Given the description of an element on the screen output the (x, y) to click on. 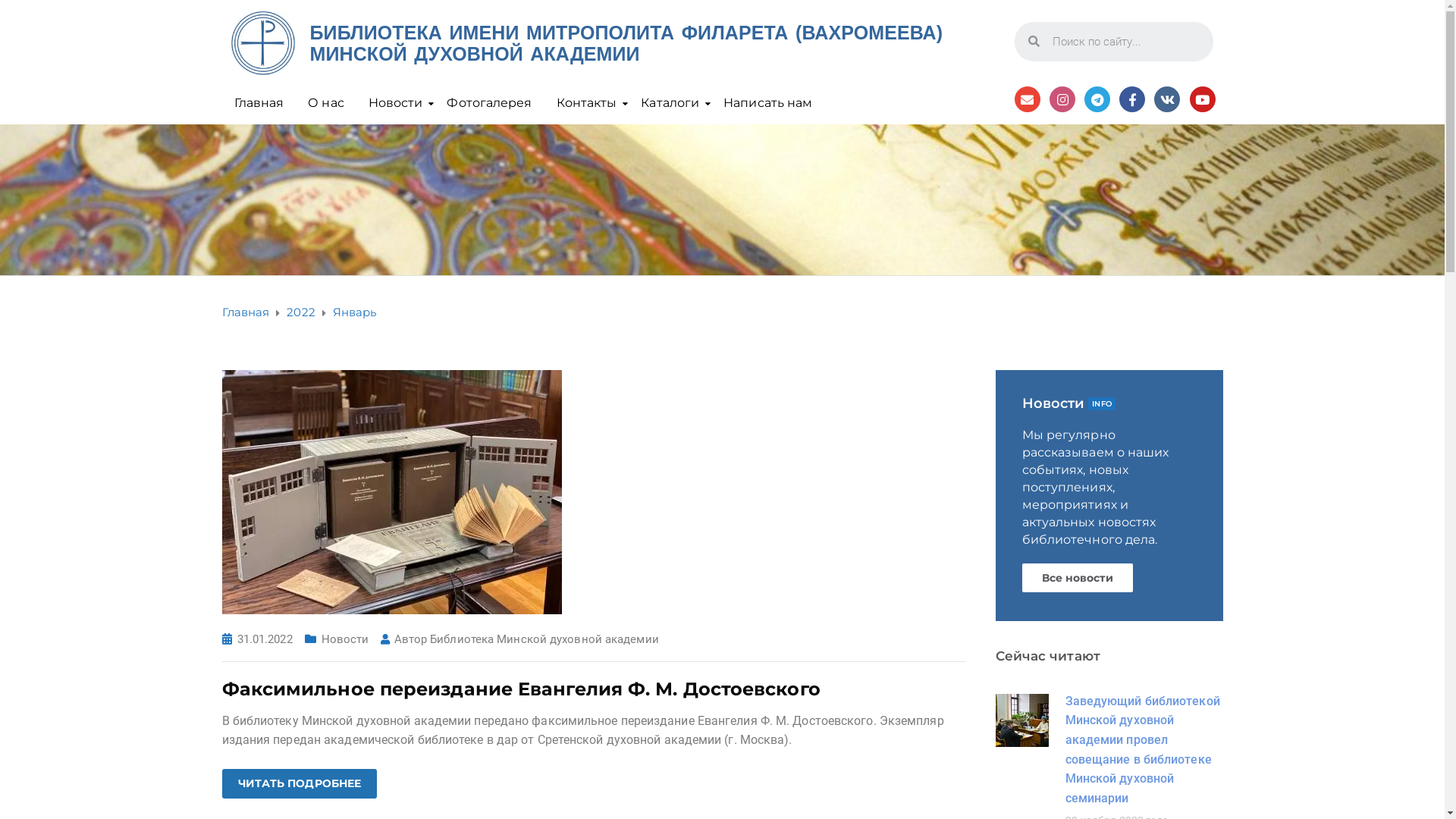
31.01.2022 Element type: text (264, 639)
2022 Element type: text (300, 311)
Search Element type: hover (1126, 40)
